Given the description of an element on the screen output the (x, y) to click on. 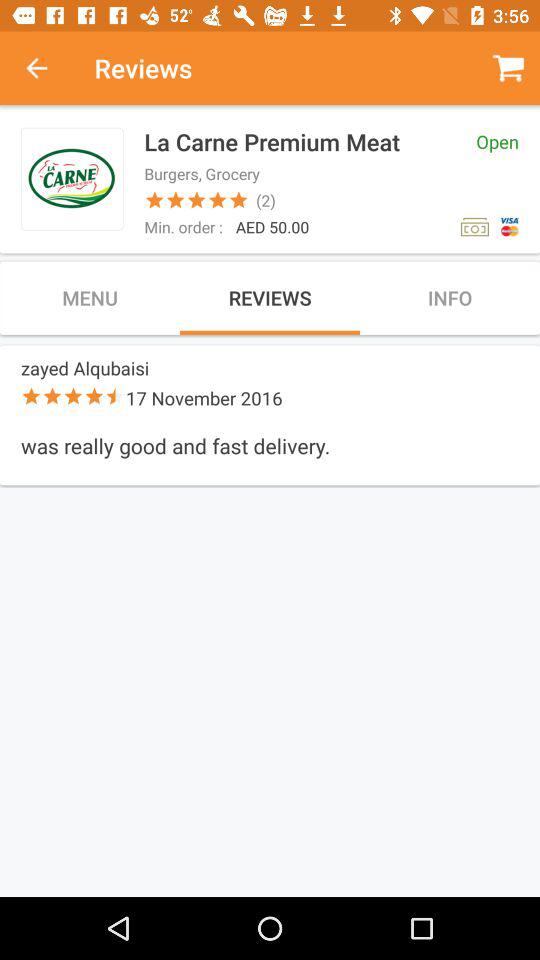
back to previous screen (47, 68)
